Given the description of an element on the screen output the (x, y) to click on. 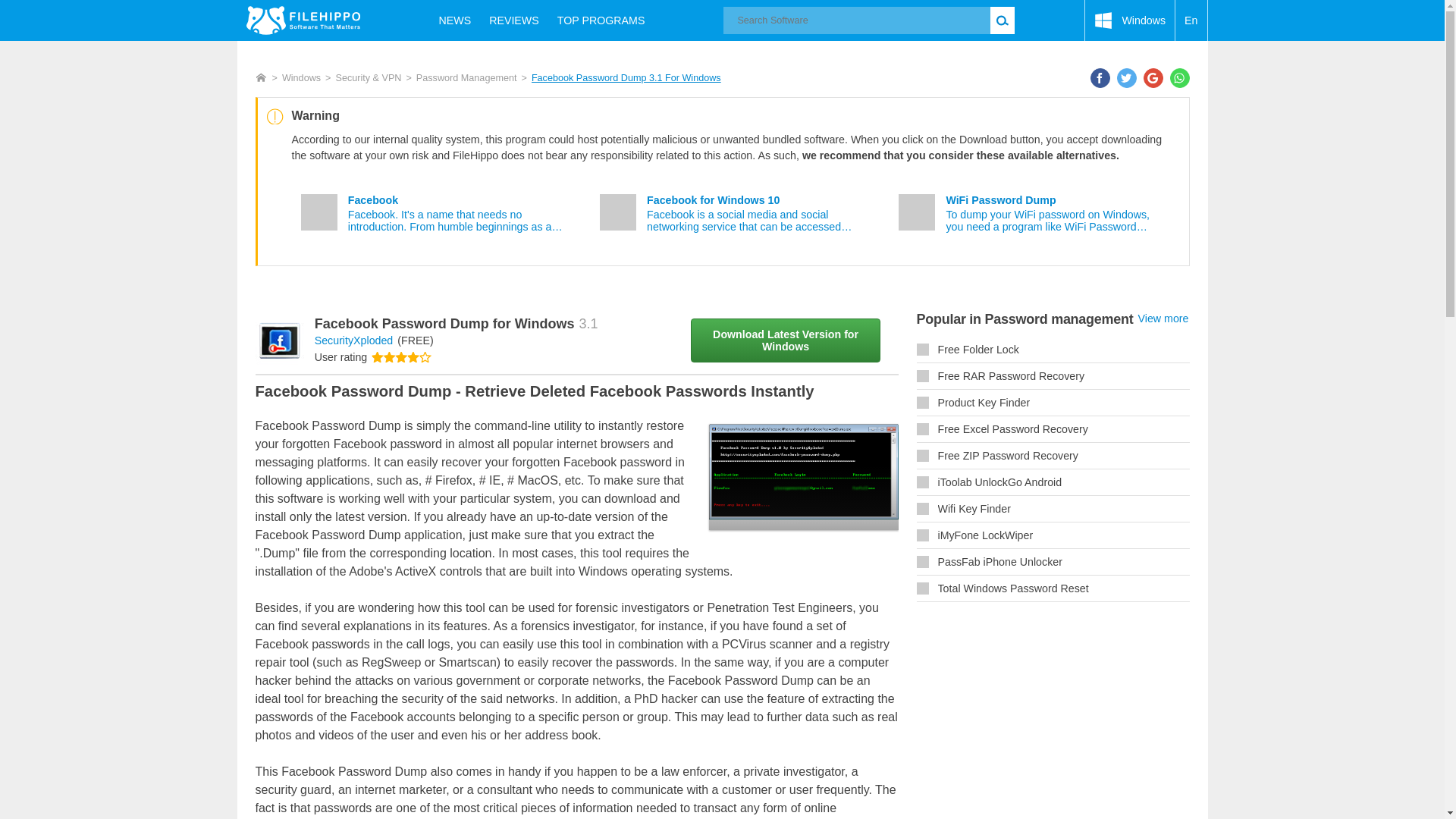
Password Management (466, 77)
Top Programs (600, 20)
TOP PROGRAMS (600, 20)
Facebook Password Dump 3.1 For Windows (625, 77)
Reviews (514, 20)
Windows (301, 77)
Filehippo (302, 20)
NEWS (454, 20)
News (454, 20)
Windows (1129, 20)
